Given the description of an element on the screen output the (x, y) to click on. 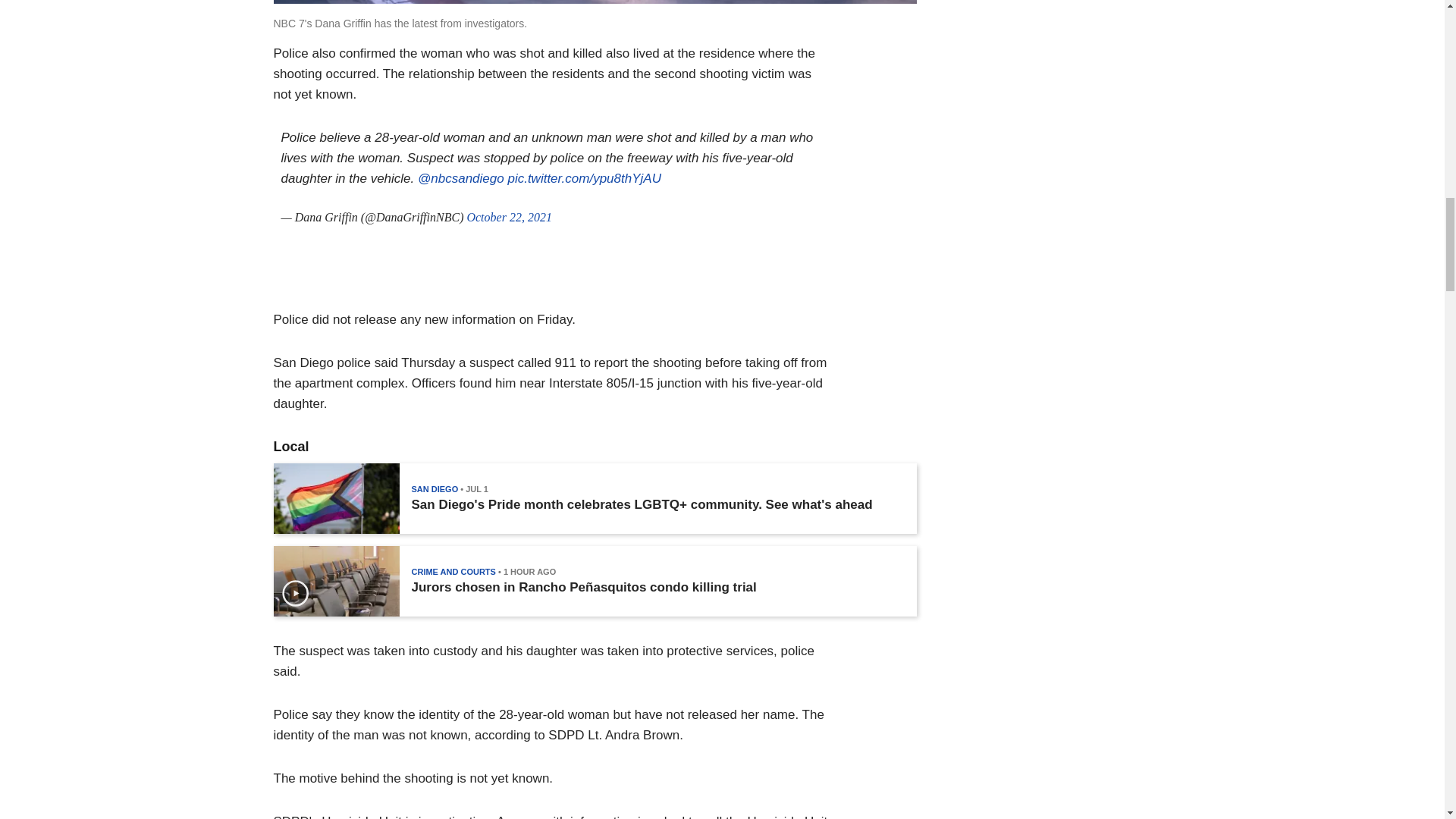
October 22, 2021 (508, 216)
